Given the description of an element on the screen output the (x, y) to click on. 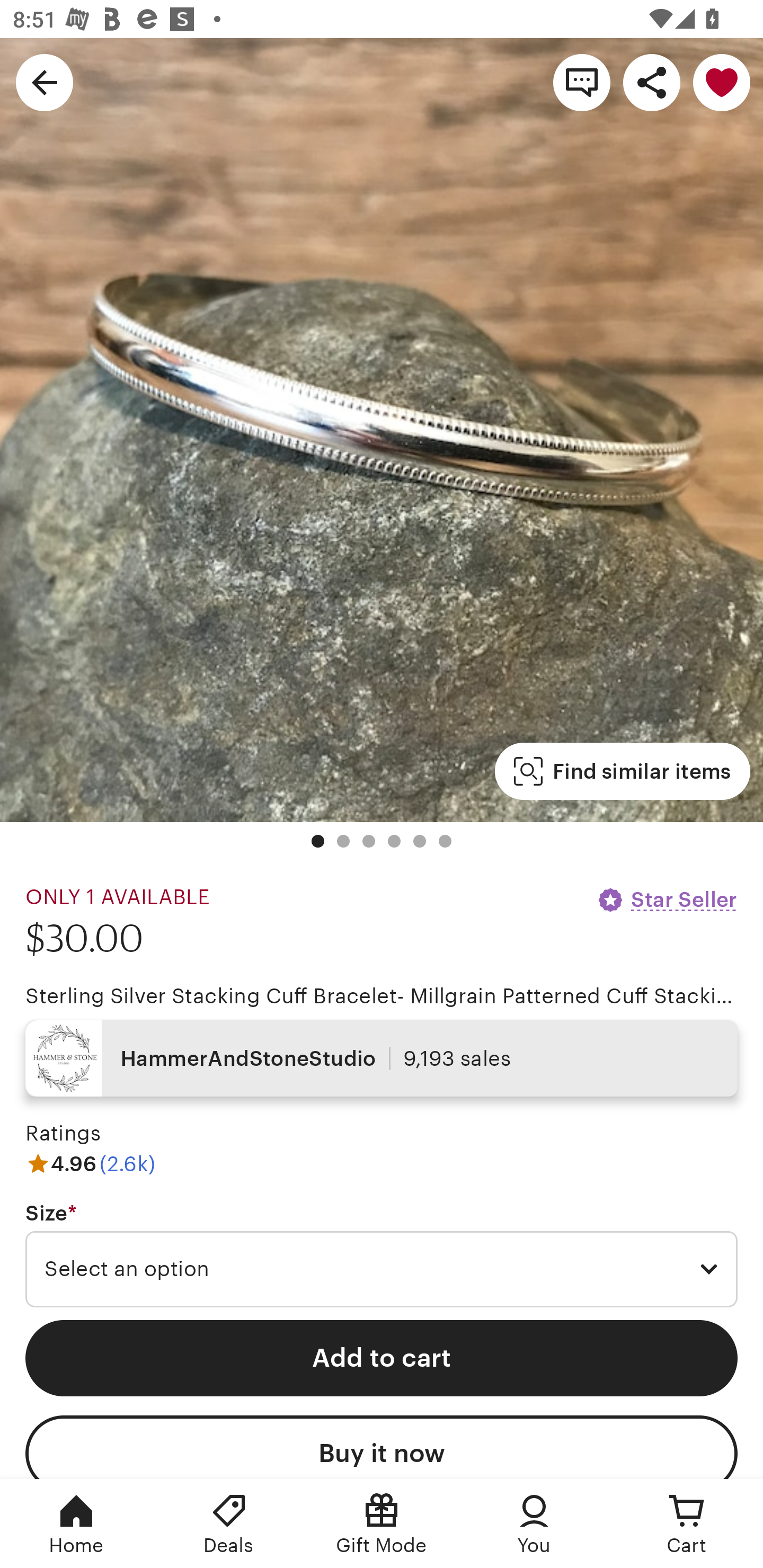
Navigate up (44, 81)
Contact shop (581, 81)
Share (651, 81)
Find similar items (622, 771)
Star Seller (666, 899)
HammerAndStoneStudio 9,193 sales (381, 1058)
Ratings (62, 1133)
4.96 (2.6k) (90, 1163)
Size * Required Select an option (381, 1254)
Select an option (381, 1268)
Add to cart (381, 1358)
Buy it now (381, 1446)
Deals (228, 1523)
Gift Mode (381, 1523)
You (533, 1523)
Cart (686, 1523)
